Given the description of an element on the screen output the (x, y) to click on. 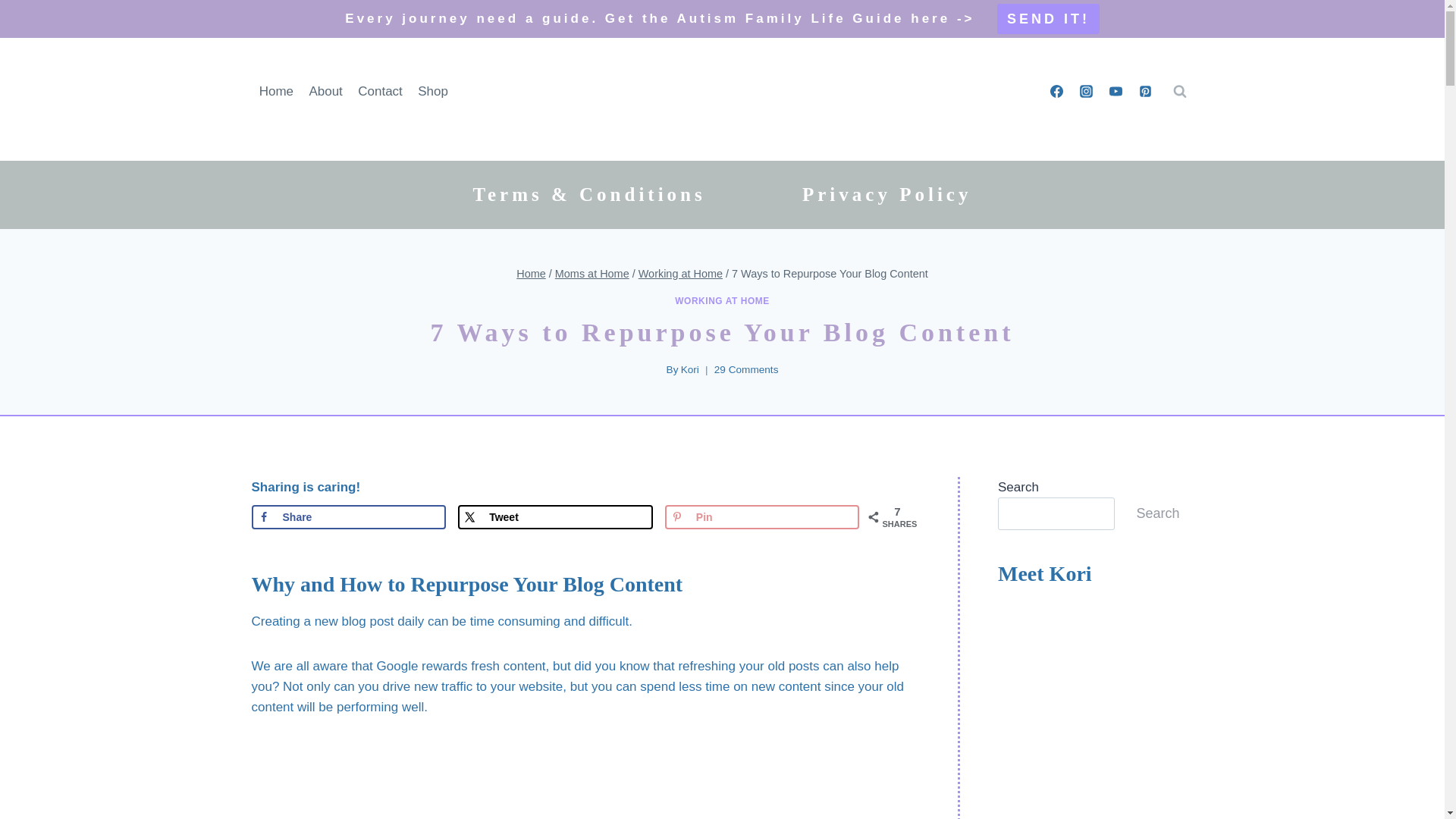
Contact (380, 91)
Moms at Home (591, 273)
29 Comments (746, 369)
Privacy Policy (887, 194)
Working at Home (680, 273)
Tweet (555, 517)
Share on Facebook (348, 517)
Home (531, 273)
About (325, 91)
Share on X (555, 517)
